Given the description of an element on the screen output the (x, y) to click on. 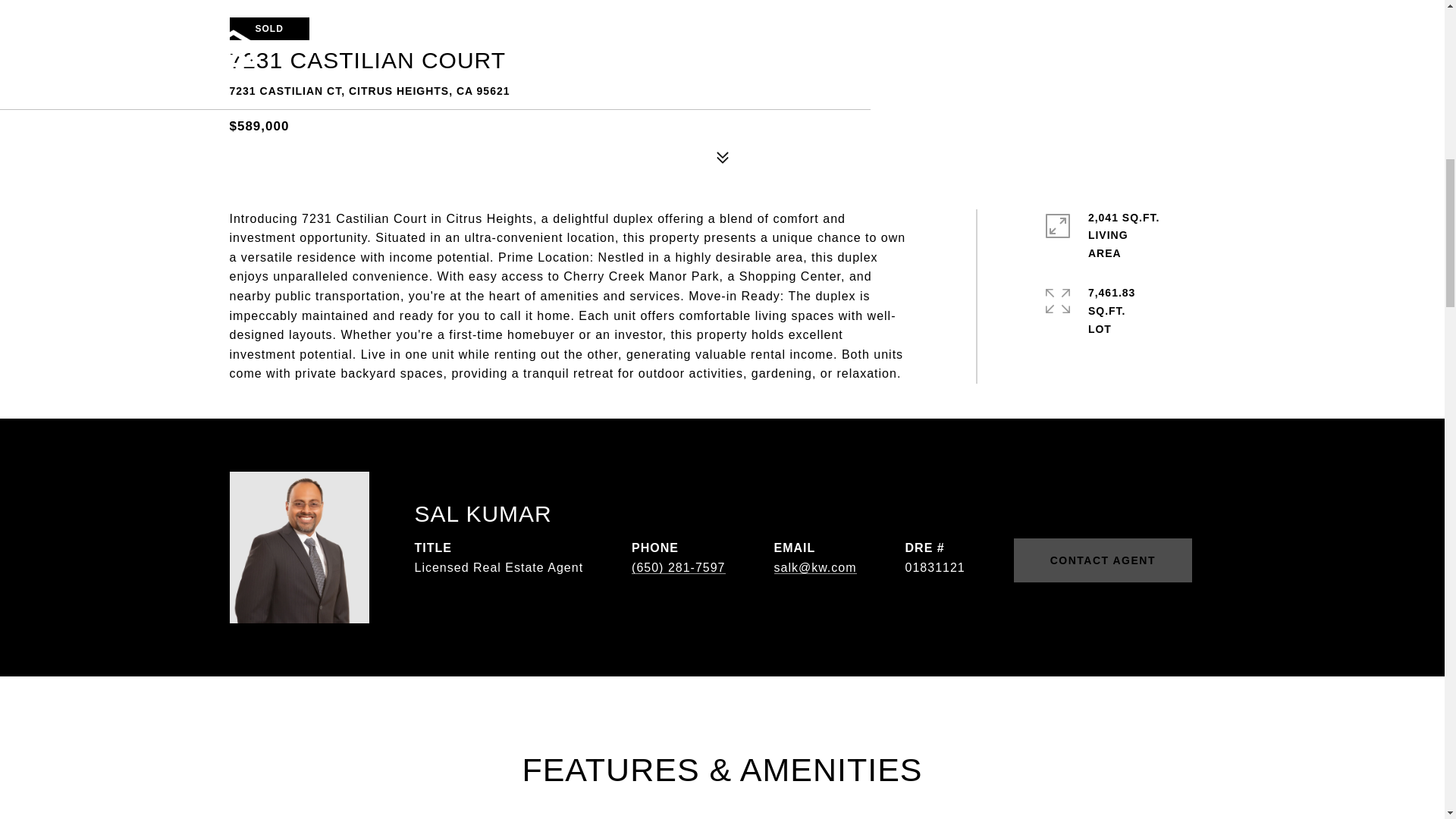
CONTACT AGENT (1102, 560)
